Given the description of an element on the screen output the (x, y) to click on. 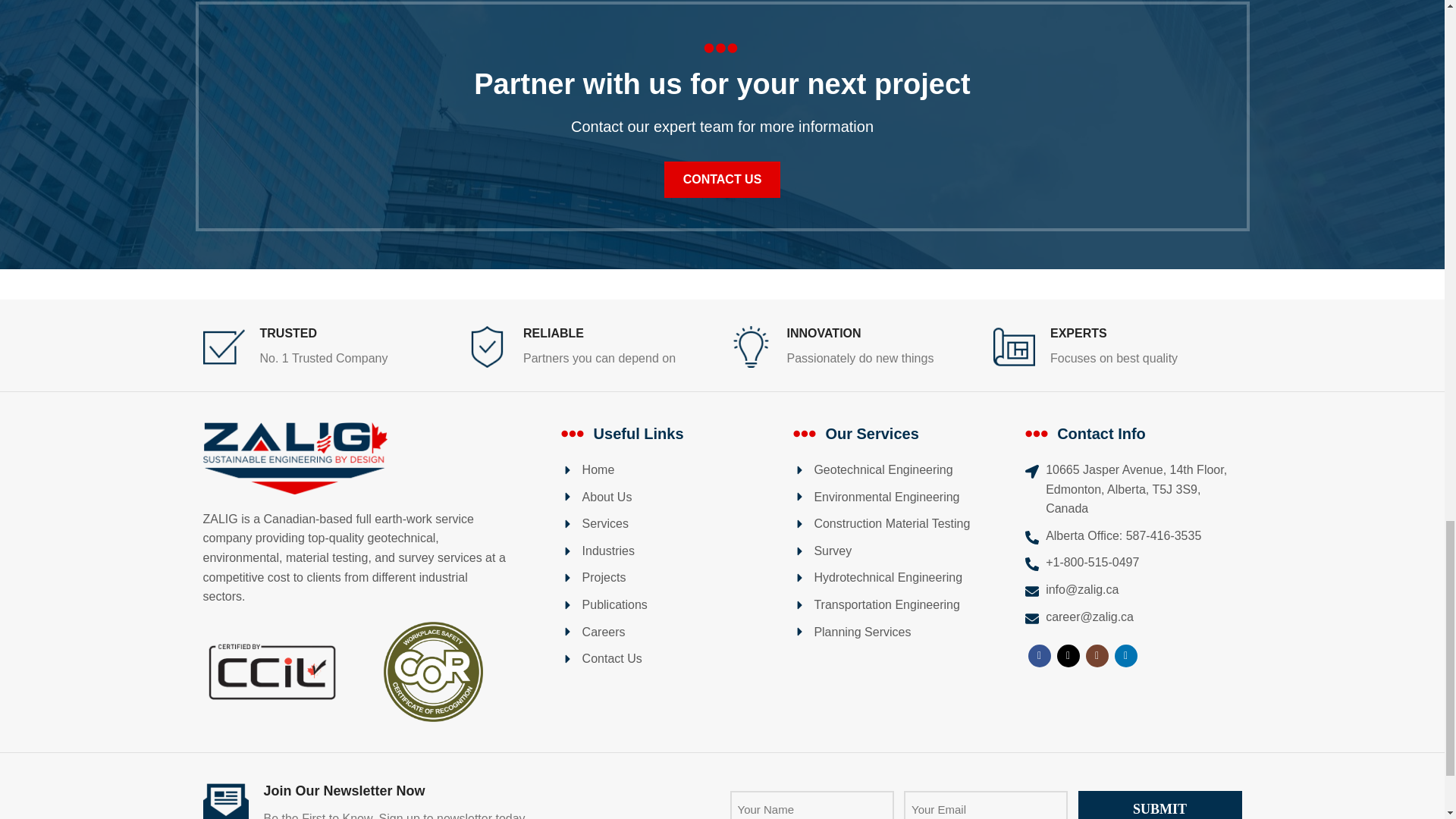
Submit (1159, 805)
